Given the description of an element on the screen output the (x, y) to click on. 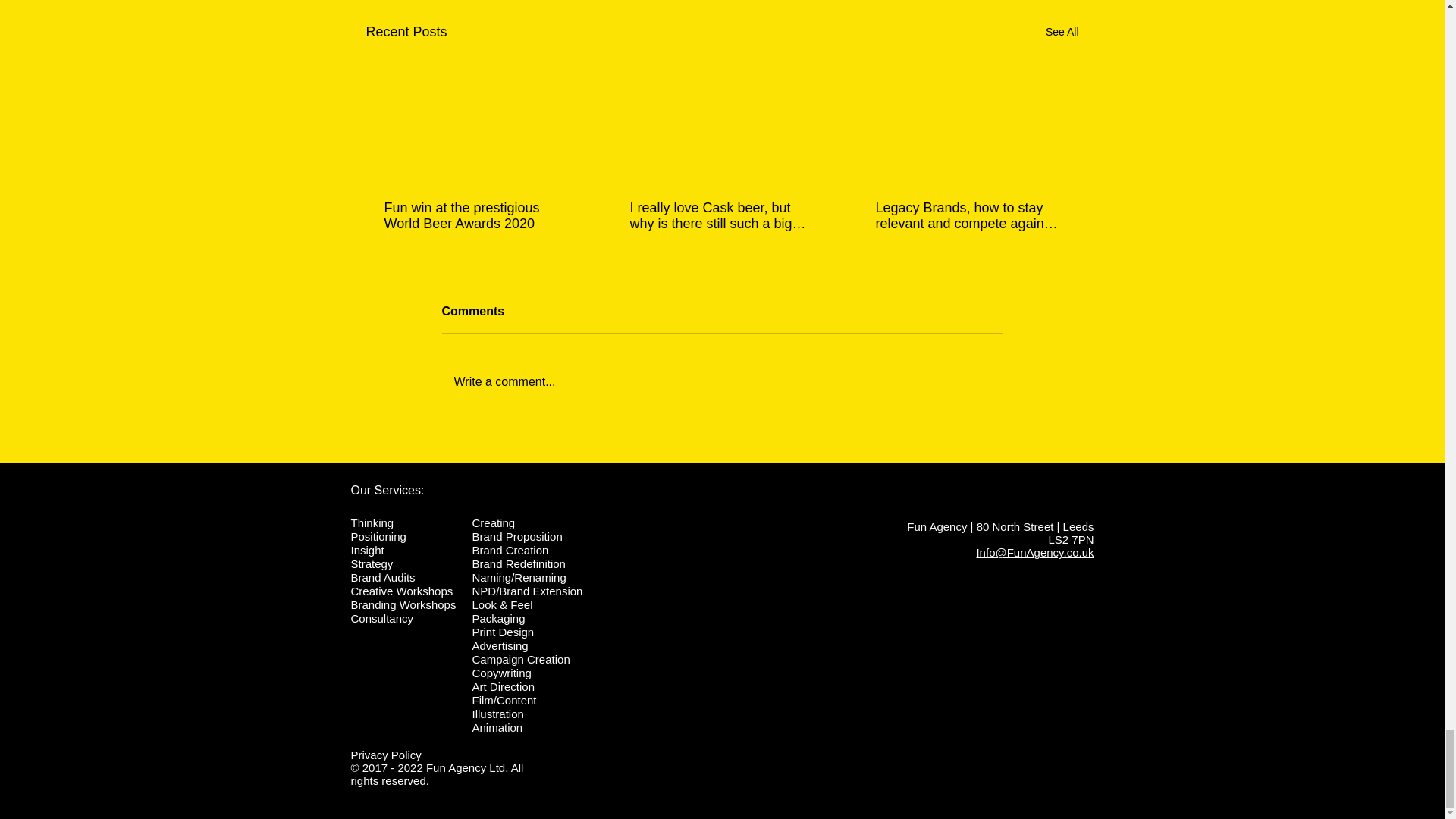
Write a comment... (722, 382)
Fun win at the prestigious World Beer Awards 2020 (475, 215)
See All (1061, 32)
Privacy Policy (385, 754)
